Given the description of an element on the screen output the (x, y) to click on. 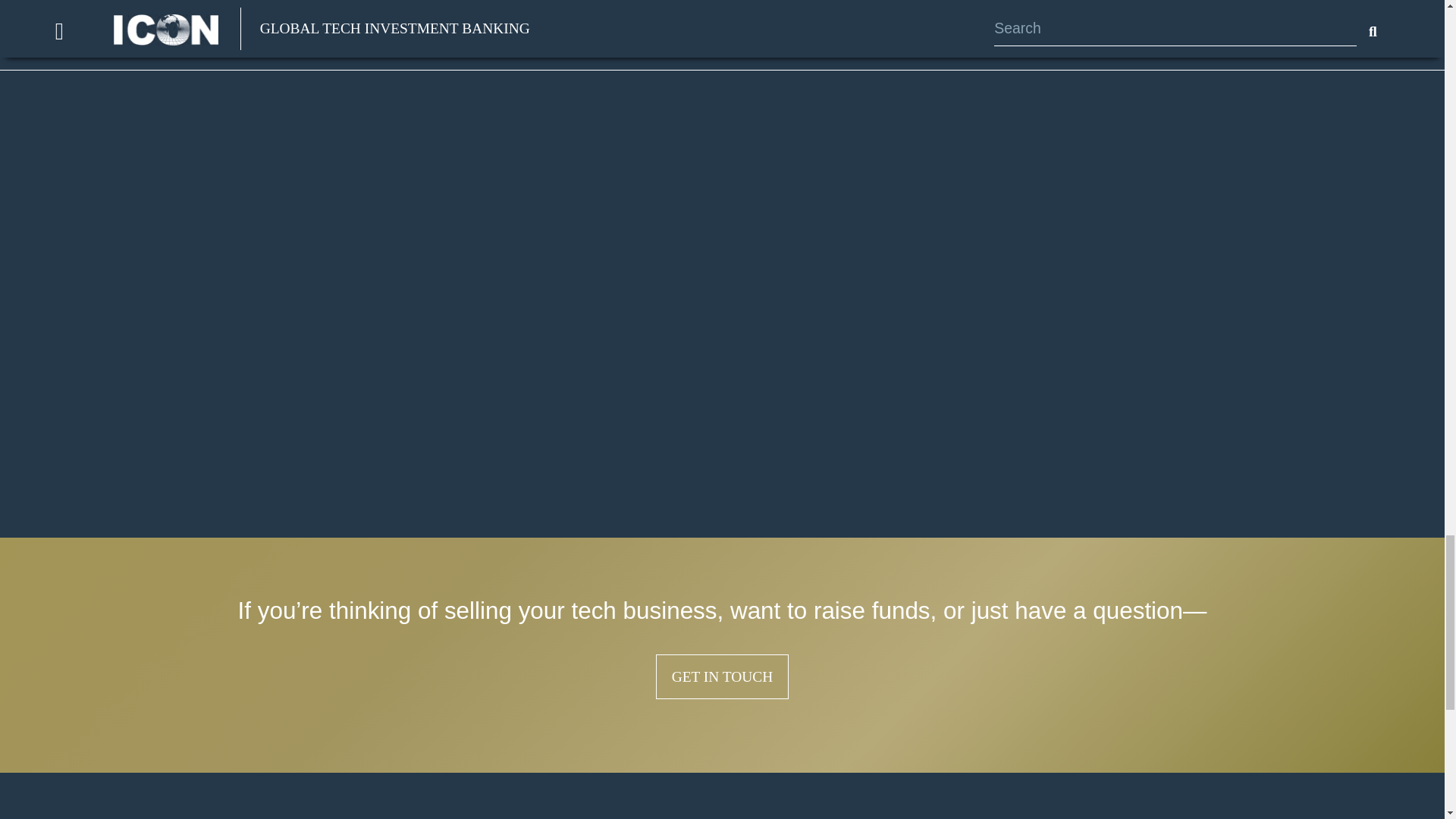
GET IN TOUCH (722, 676)
